Given the description of an element on the screen output the (x, y) to click on. 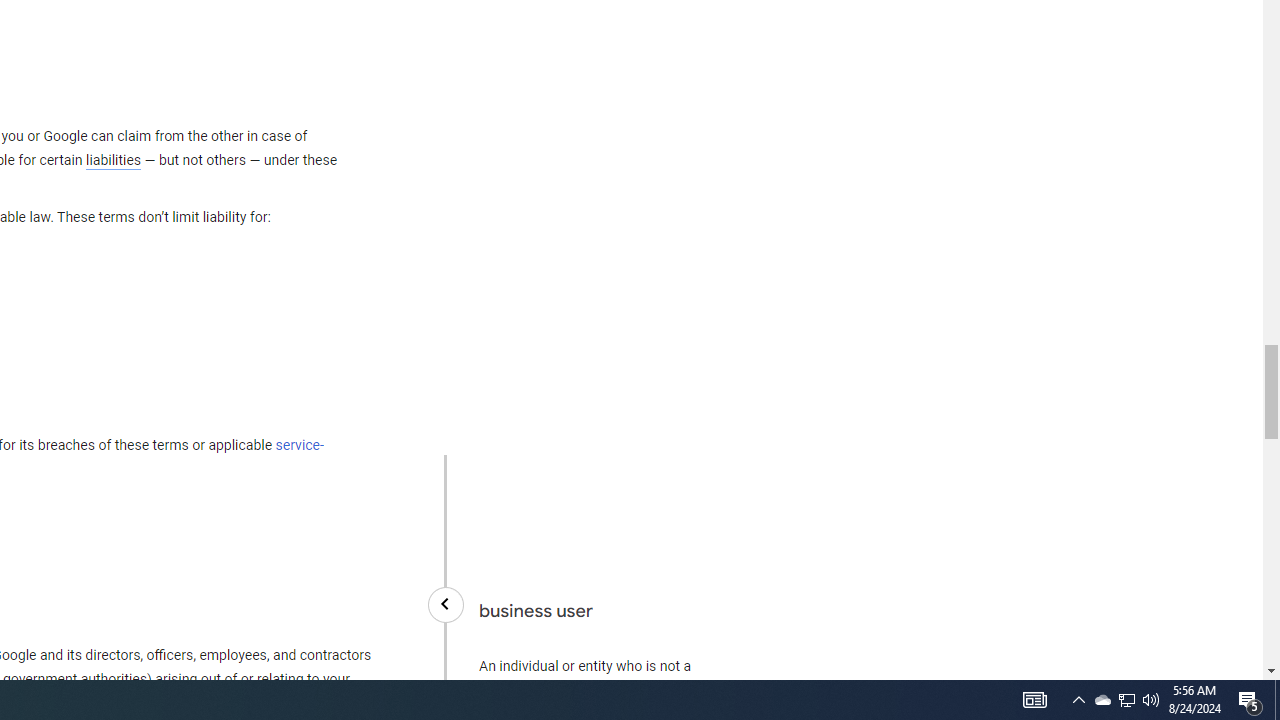
liabilities (113, 160)
